Given the description of an element on the screen output the (x, y) to click on. 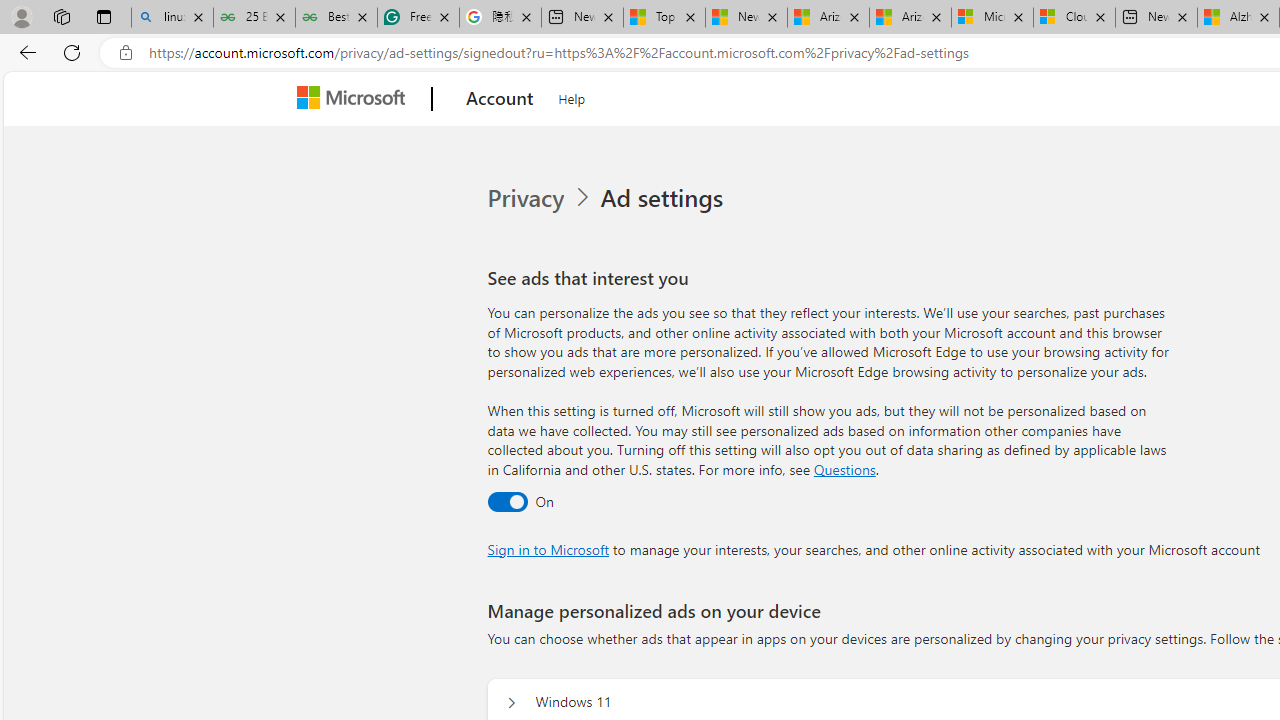
Go to Questions section (843, 468)
linux basic - Search (171, 17)
Ad settings (666, 197)
Account (499, 99)
25 Basic Linux Commands For Beginners - GeeksforGeeks (254, 17)
Cloud Computing Services | Microsoft Azure (1074, 17)
Free AI Writing Assistance for Students | Grammarly (418, 17)
News - MSN (746, 17)
